Given the description of an element on the screen output the (x, y) to click on. 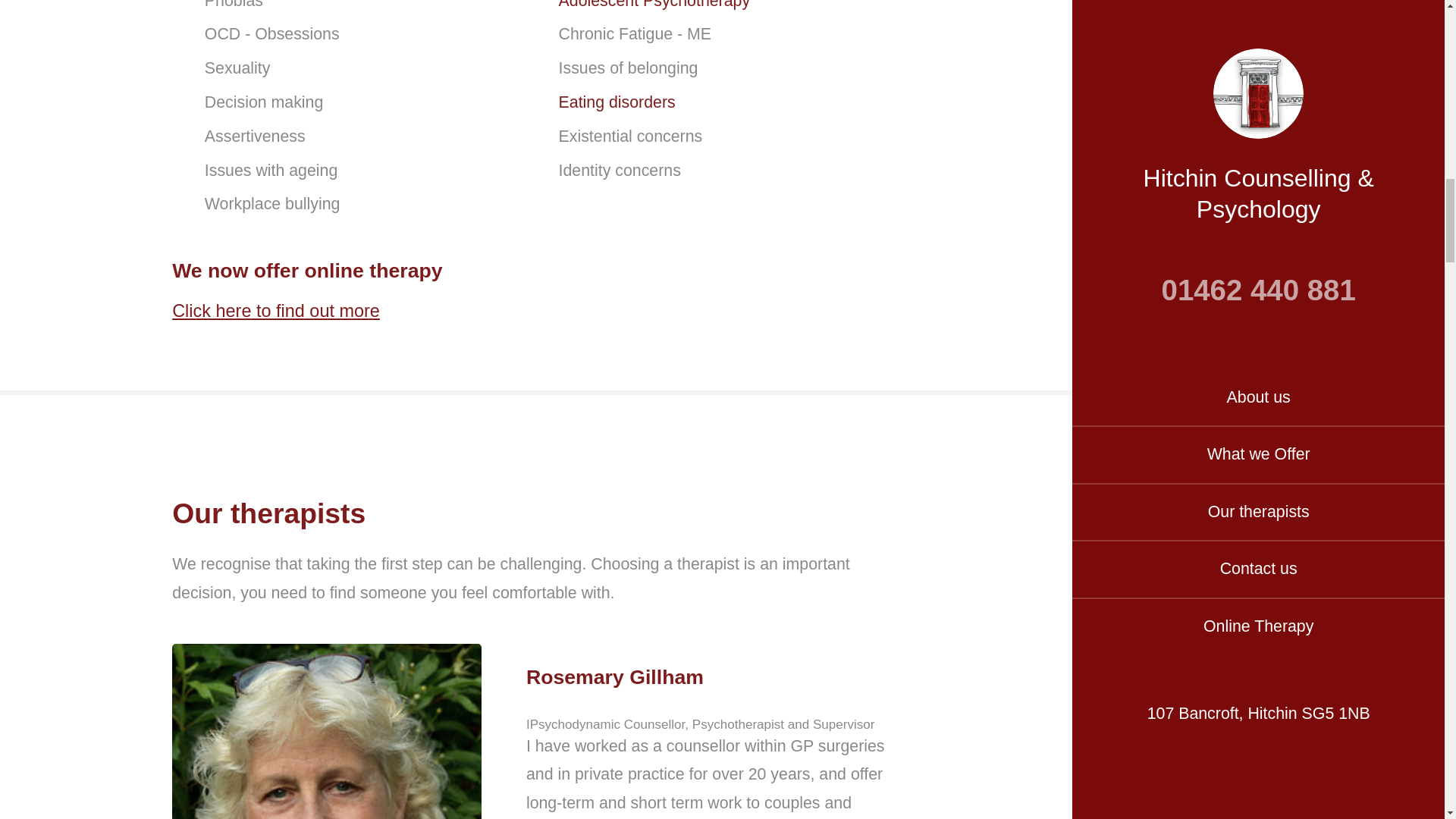
Adolescent Psychotherapy (655, 4)
Click here to find out more (275, 311)
Eating Disorders (617, 102)
Eating disorders (617, 102)
Adolescent Psychotherapy (655, 4)
